Given the description of an element on the screen output the (x, y) to click on. 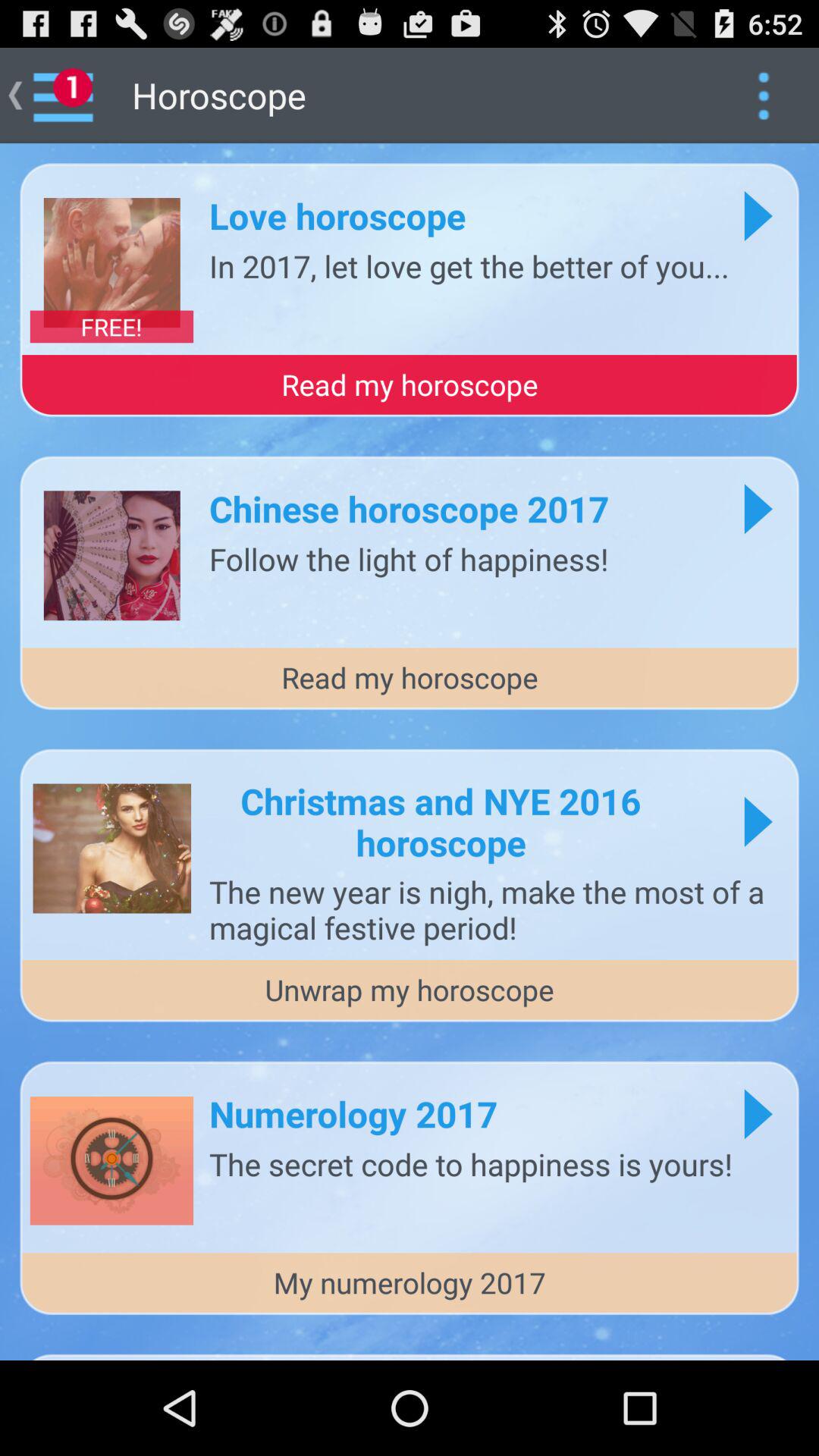
press item below the christmas and nye icon (495, 909)
